Given the description of an element on the screen output the (x, y) to click on. 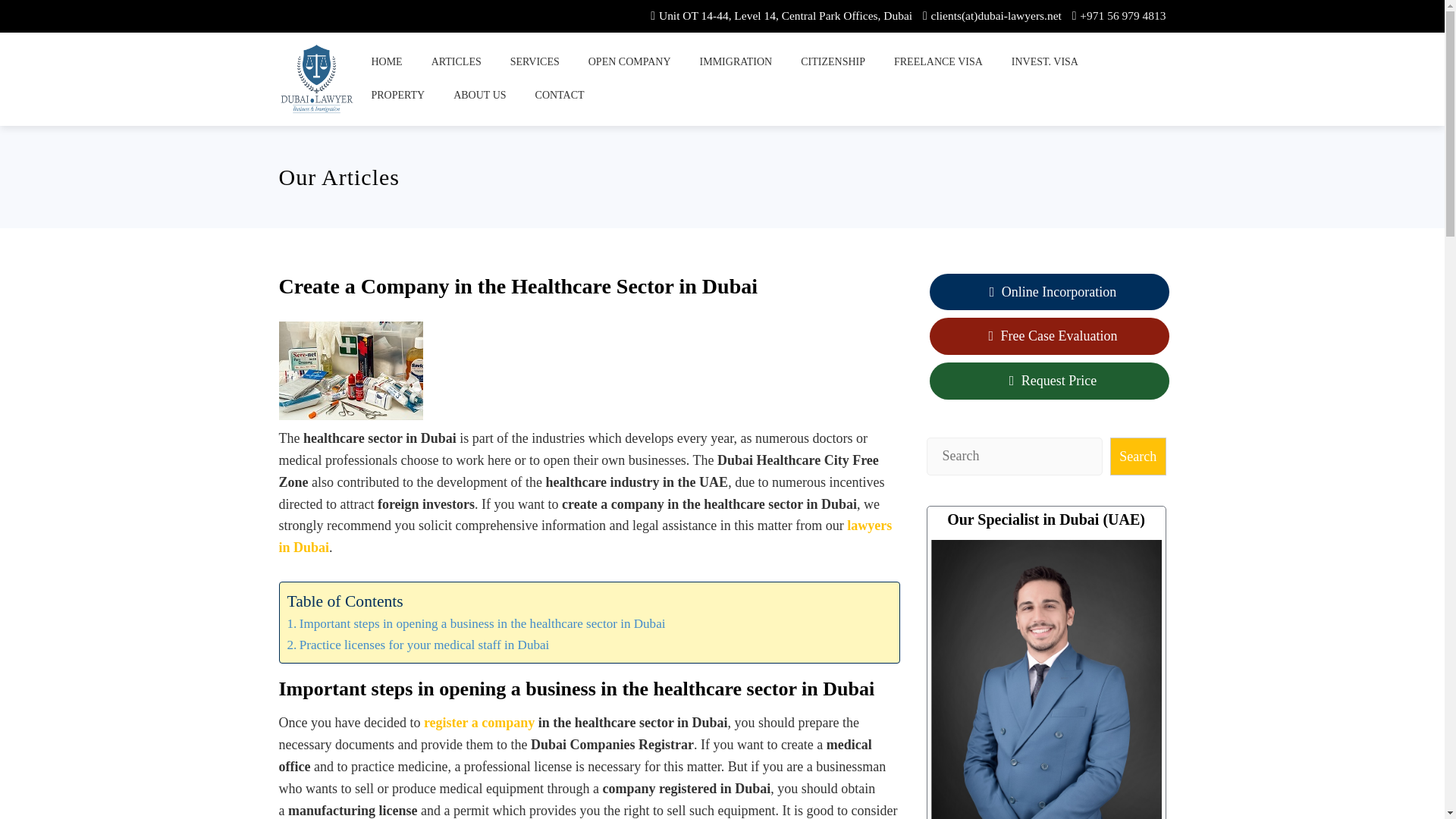
INVEST. VISA (1044, 61)
lawyers in Dubai (585, 536)
Online Incorporation (1049, 292)
HOME (385, 61)
IMMIGRATION (735, 61)
PROPERTY (397, 95)
SERVICES (534, 61)
ABOUT US (479, 95)
